Given the description of an element on the screen output the (x, y) to click on. 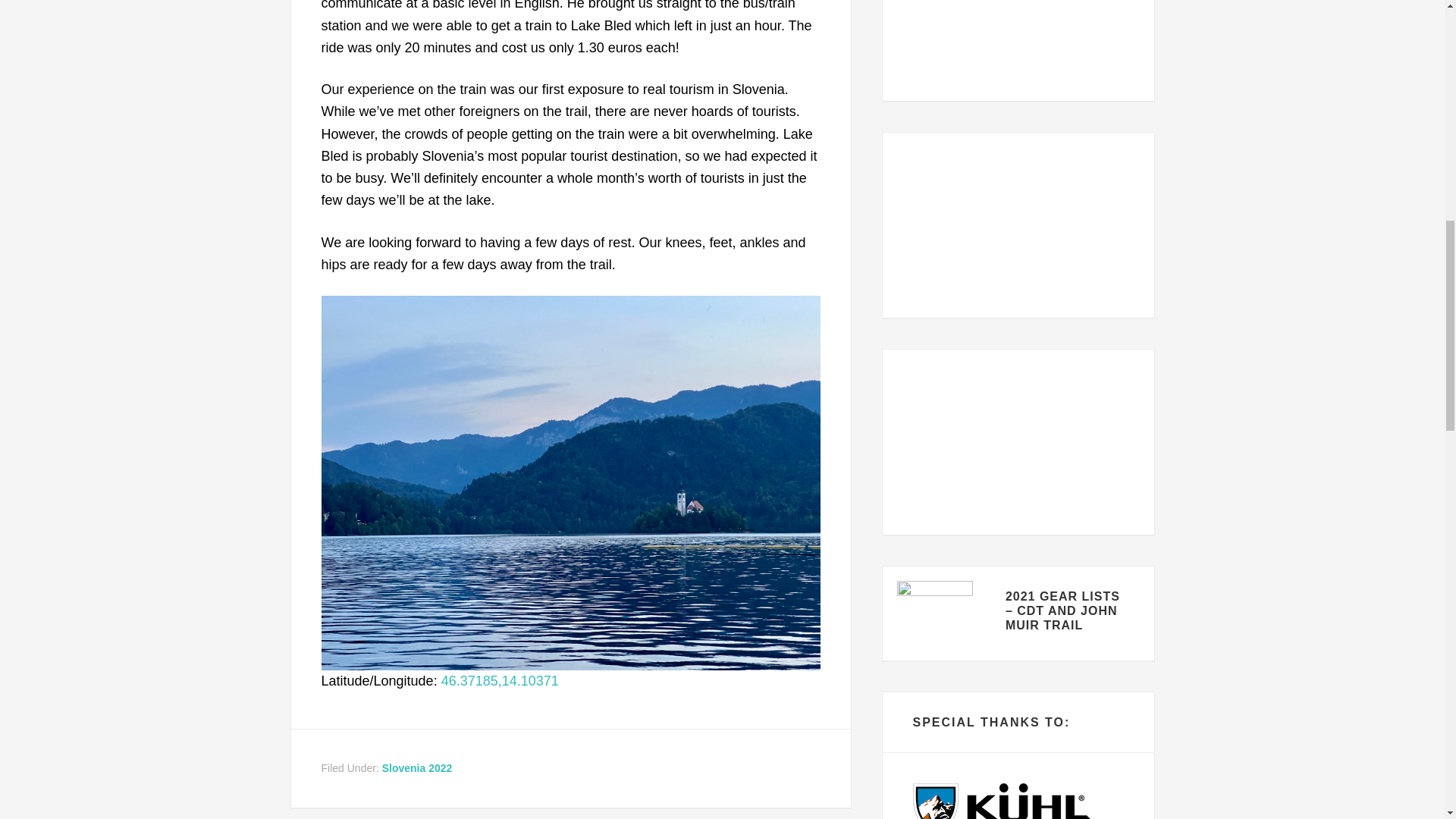
Slovenia 2022 (416, 767)
46.37185,14.10371 (500, 680)
